Given the description of an element on the screen output the (x, y) to click on. 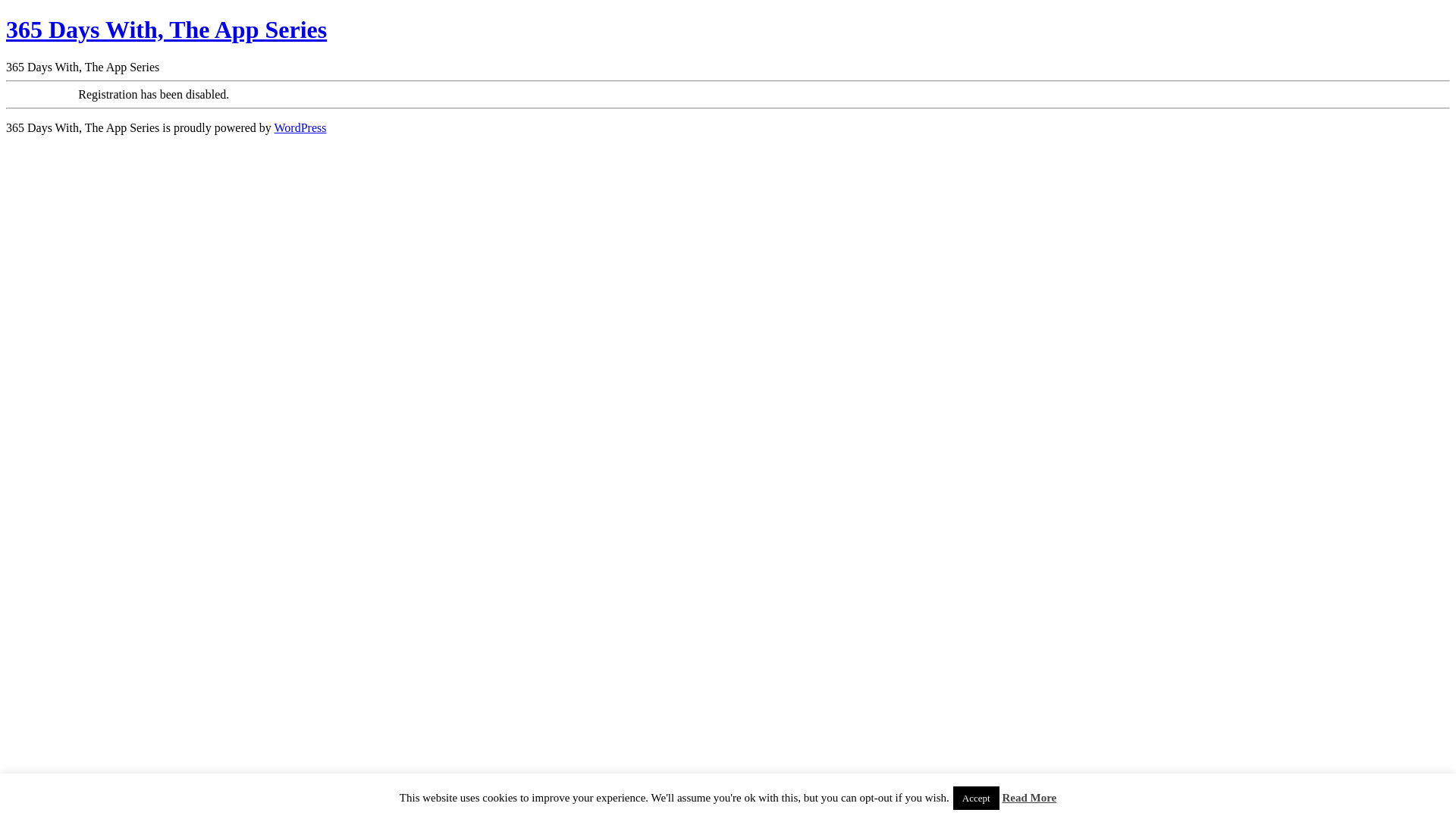
WordPress Element type: text (300, 127)
Read More Element type: text (1028, 797)
Accept Element type: text (976, 797)
365 Days With, The App Series Element type: text (166, 29)
